Given the description of an element on the screen output the (x, y) to click on. 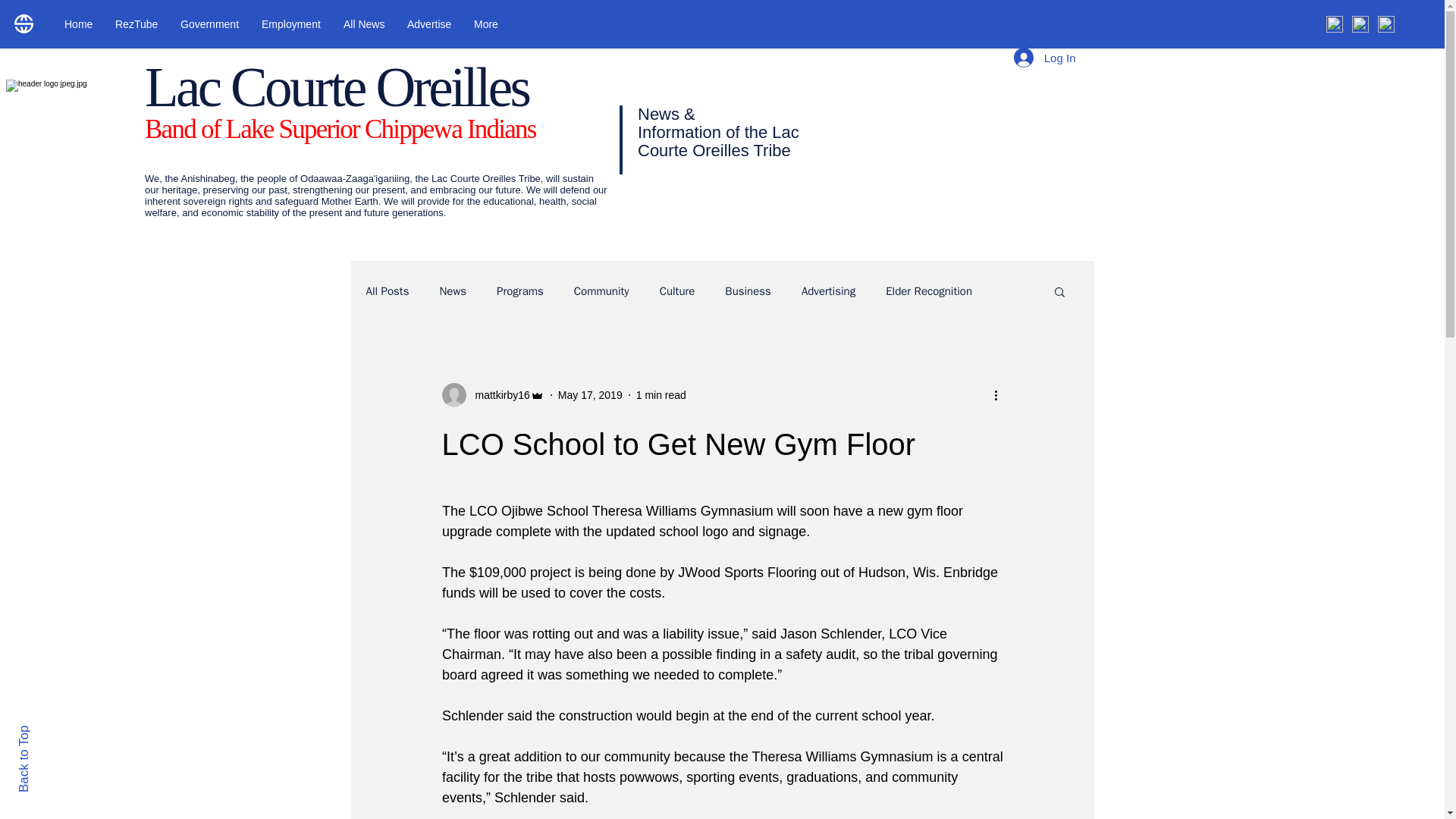
RezTube (135, 24)
May 17, 2019 (590, 394)
All Posts (387, 290)
Log In (1044, 57)
Government (209, 24)
mattkirby16 (497, 394)
Advertise (429, 24)
Employment (290, 24)
All News (363, 24)
News (452, 290)
